Given the description of an element on the screen output the (x, y) to click on. 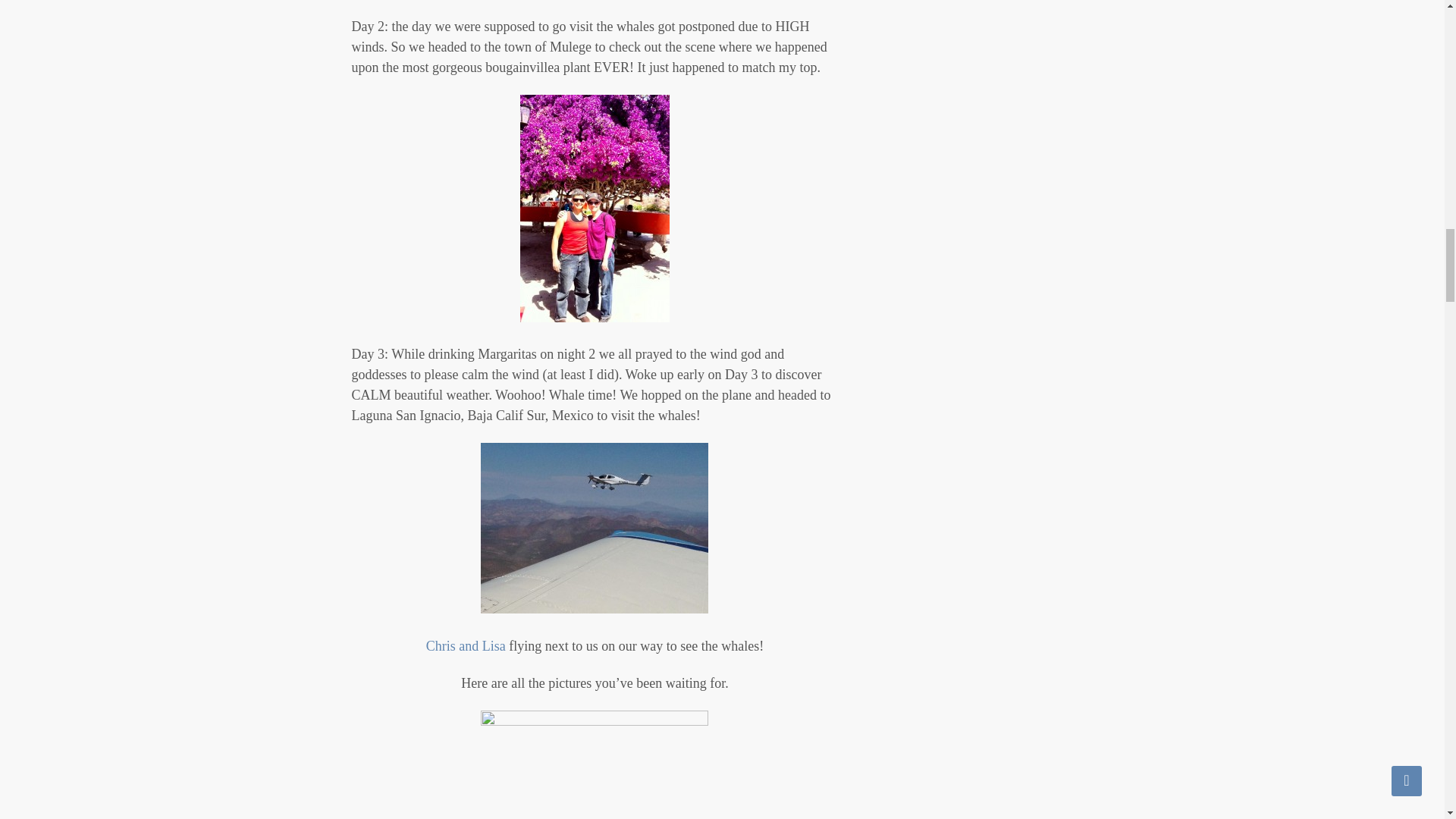
whale tour (593, 764)
Chris plane (593, 528)
Chris and Lisa (465, 645)
